Given the description of an element on the screen output the (x, y) to click on. 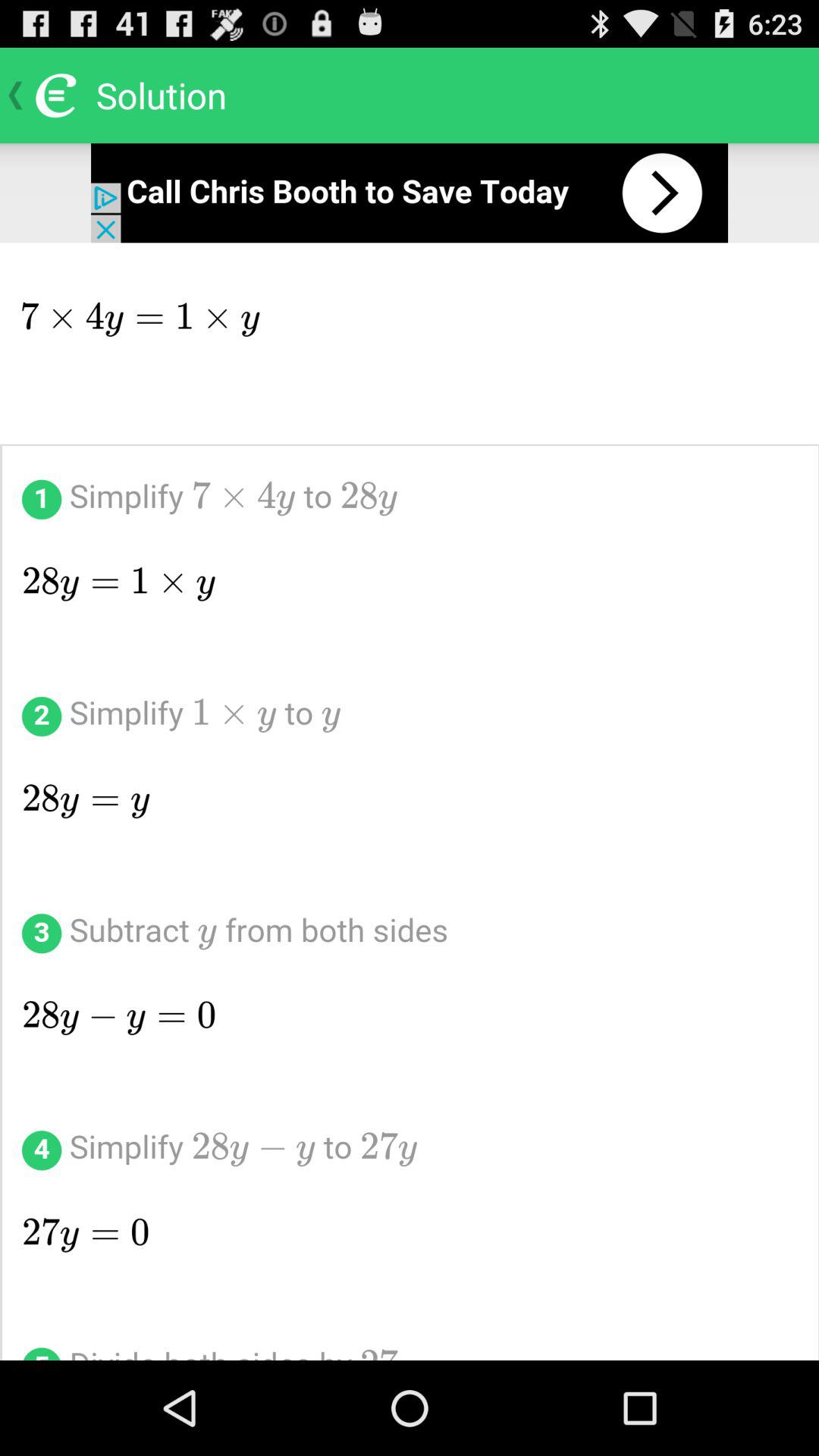
open advertisement (409, 192)
